Given the description of an element on the screen output the (x, y) to click on. 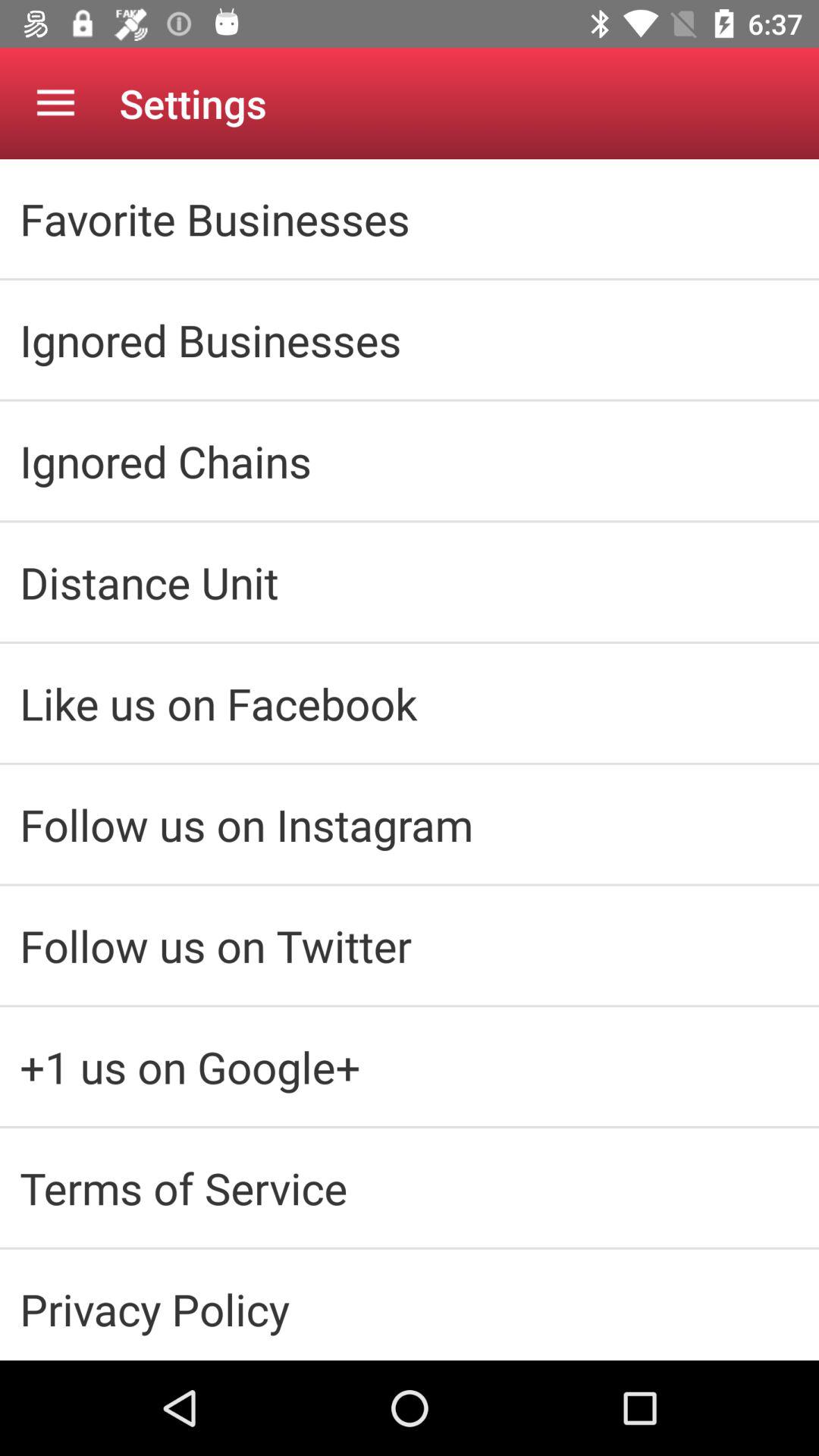
jump until distance unit item (409, 581)
